Given the description of an element on the screen output the (x, y) to click on. 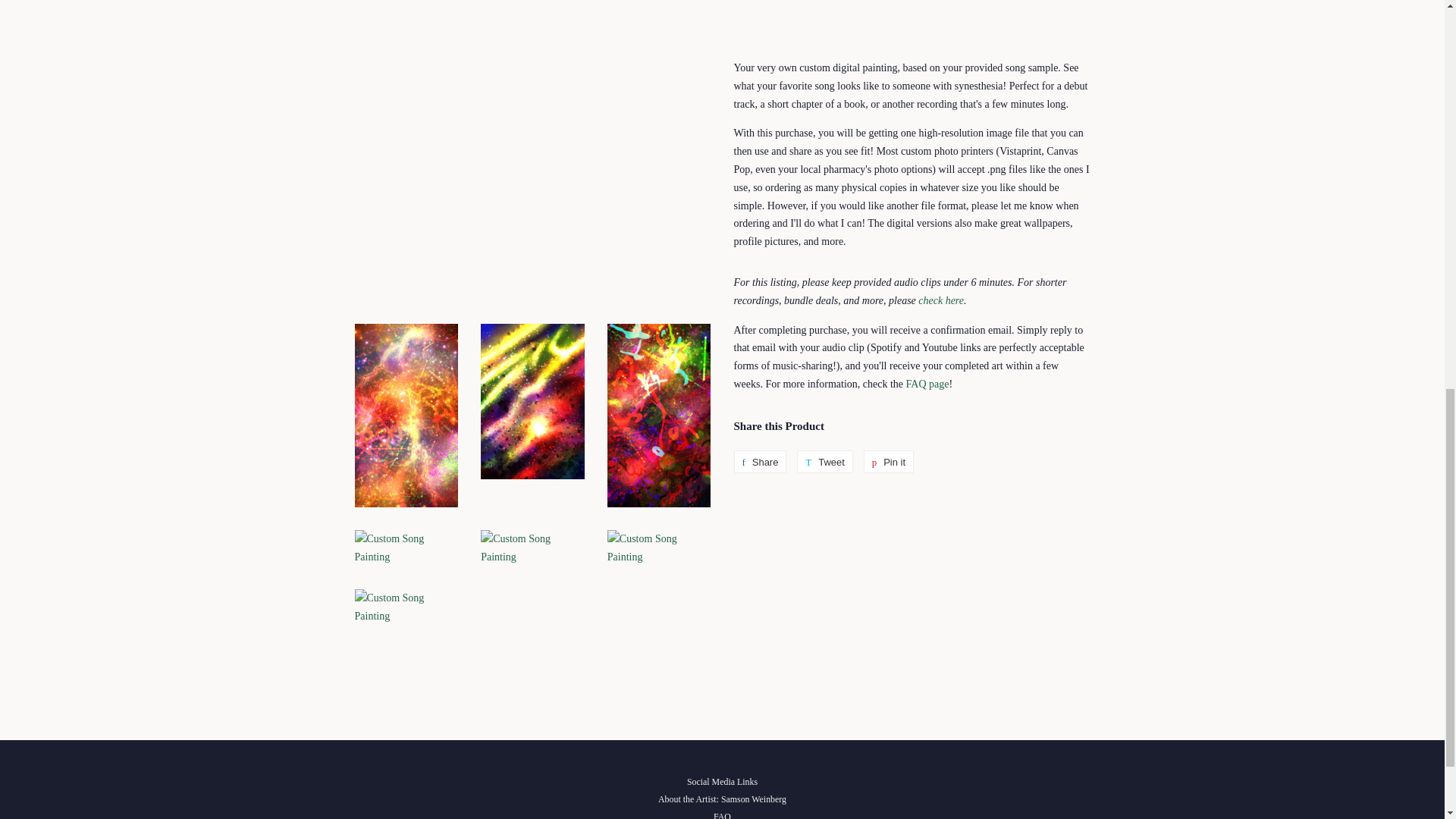
Share on Facebook (760, 461)
Pin on Pinterest (888, 461)
Synesthesia Art FAQ (927, 383)
Custom Synesthesia Paintings (940, 300)
Tweet on Twitter (824, 461)
